Given the description of an element on the screen output the (x, y) to click on. 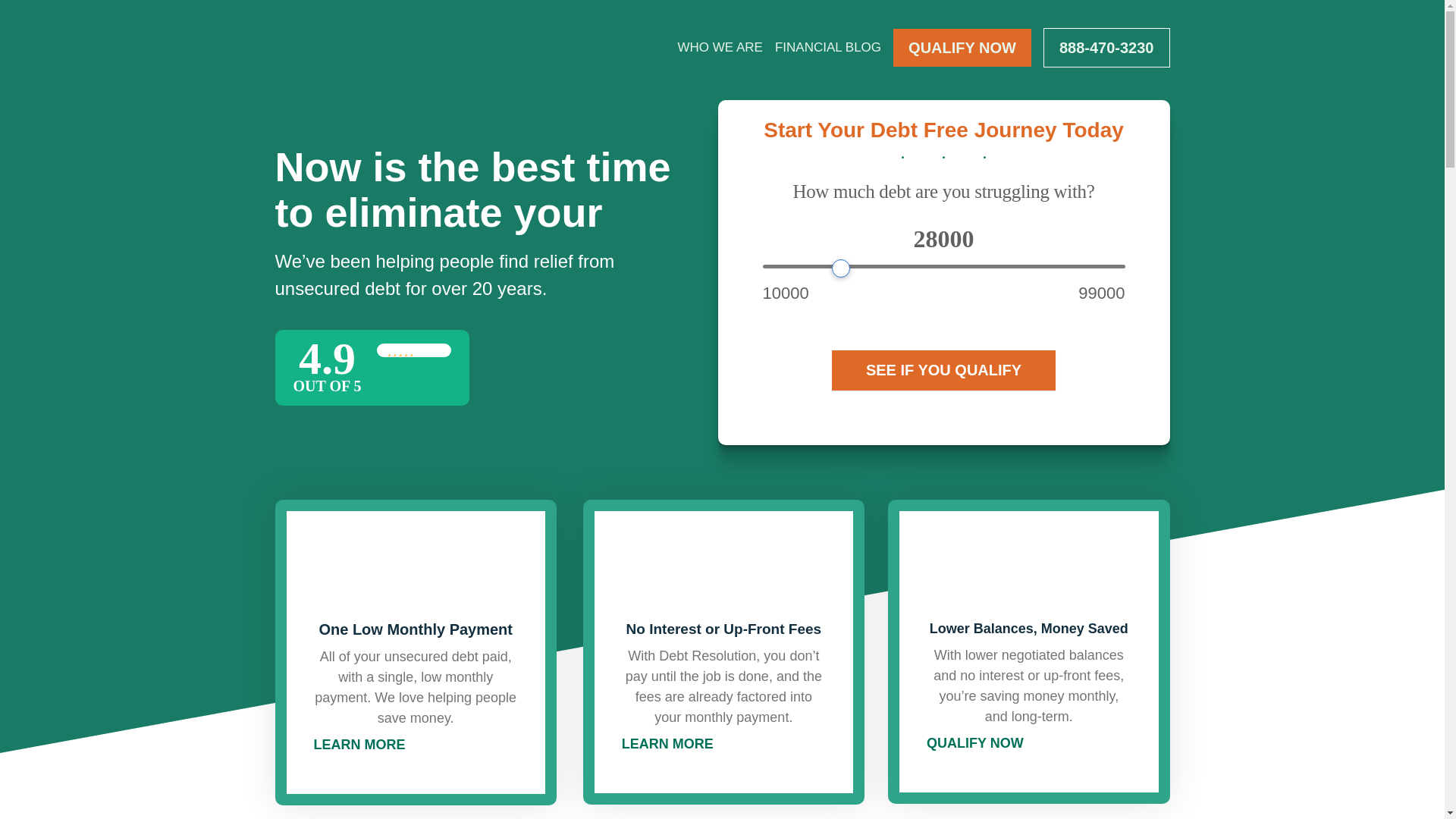
LEARN MORE (667, 744)
LEARN MORE (360, 744)
SEE IF YOU QUALIFY (943, 370)
QUALIFY NOW (974, 743)
28000 (943, 266)
QUALIFY NOW (962, 47)
WHO WE ARE (720, 47)
FINANCIAL BLOG (827, 47)
888-470-3230 (1106, 47)
